Given the description of an element on the screen output the (x, y) to click on. 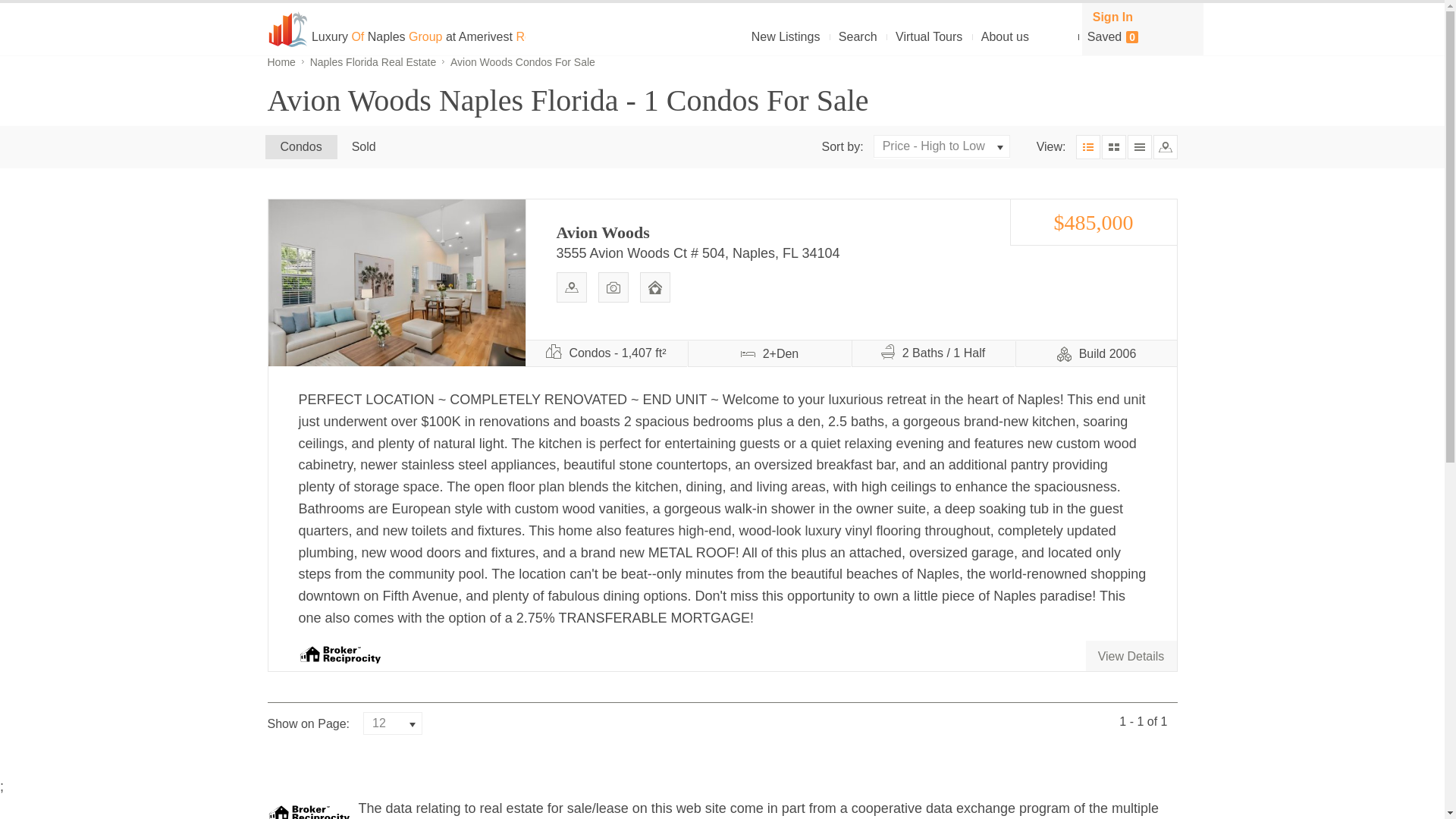
Sign In (1112, 17)
Naples Florida Real Estate Homes and Condos for Sale (285, 62)
Search (857, 36)
New Listings (786, 36)
Sold (363, 146)
Avion Woods Condos For Sale (522, 62)
Home (285, 62)
Condos (300, 146)
Avion Woods Naples Florida Sold Properties (363, 146)
Saved0 (1112, 36)
About Luxury Of Naples Group at Amerivest Realty (1005, 36)
Grid View (1113, 146)
Show map (1165, 146)
Naples Florida Real Estate (378, 62)
View Details (396, 282)
